Given the description of an element on the screen output the (x, y) to click on. 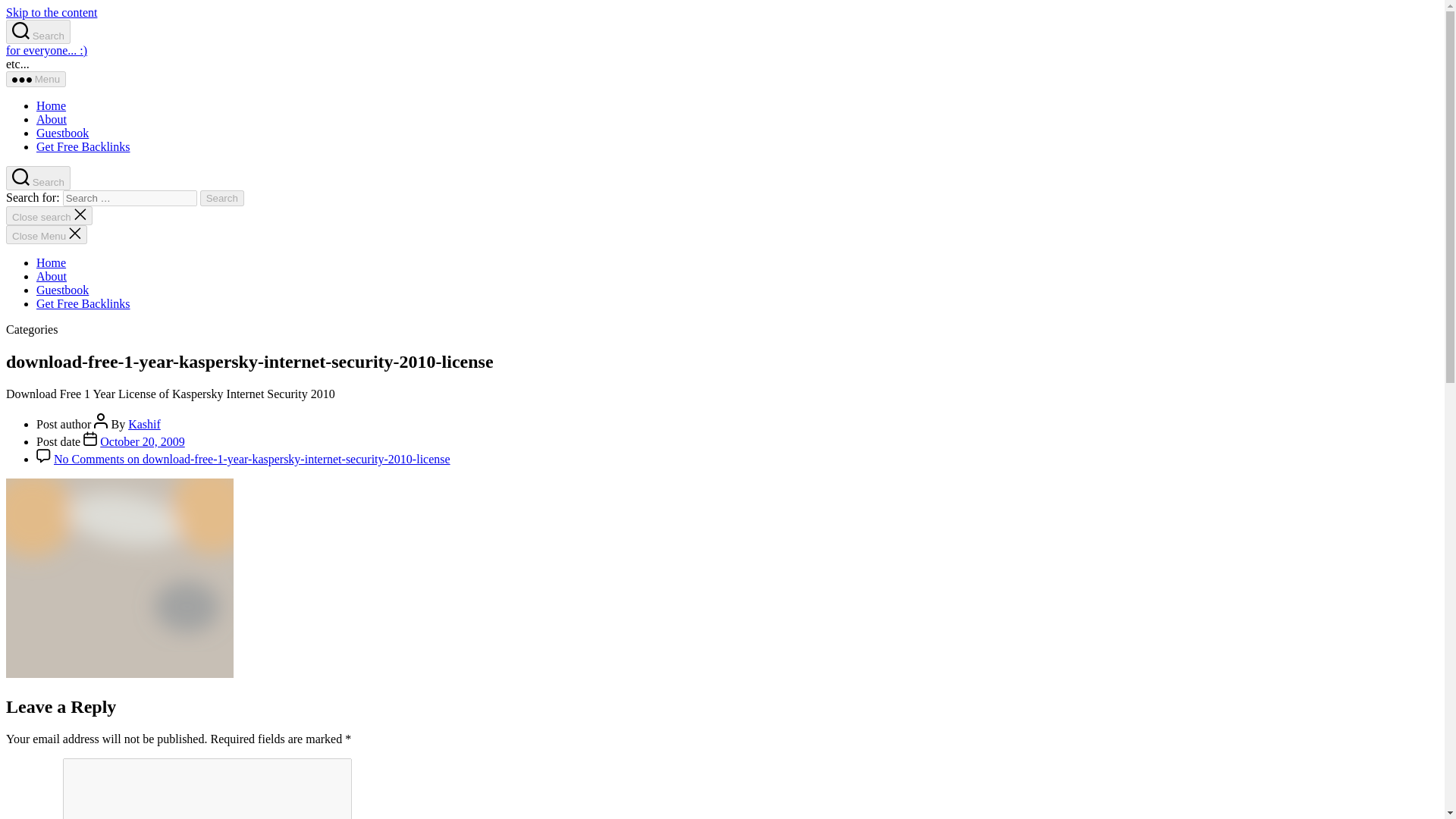
Skip to the content (51, 11)
Close search (49, 215)
Home (50, 105)
About (51, 276)
Menu (35, 78)
Guestbook (62, 132)
Search (37, 178)
Search (222, 198)
Home (50, 262)
Get Free Backlinks (83, 303)
Kashif (144, 423)
Close Menu (46, 234)
About (51, 119)
Search (222, 198)
Get Free Backlinks (83, 146)
